Given the description of an element on the screen output the (x, y) to click on. 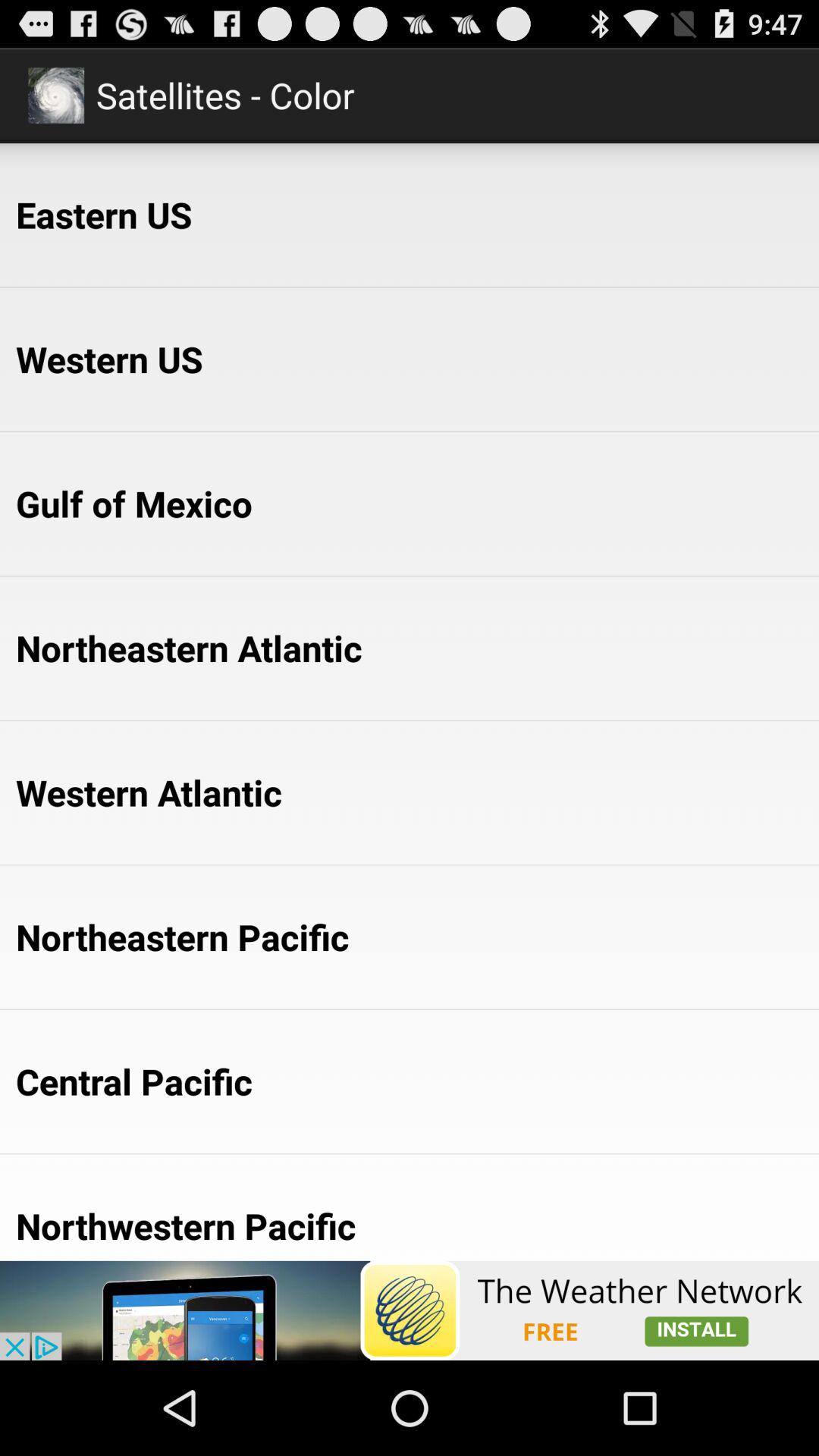
show the advertisement (409, 1310)
